Given the description of an element on the screen output the (x, y) to click on. 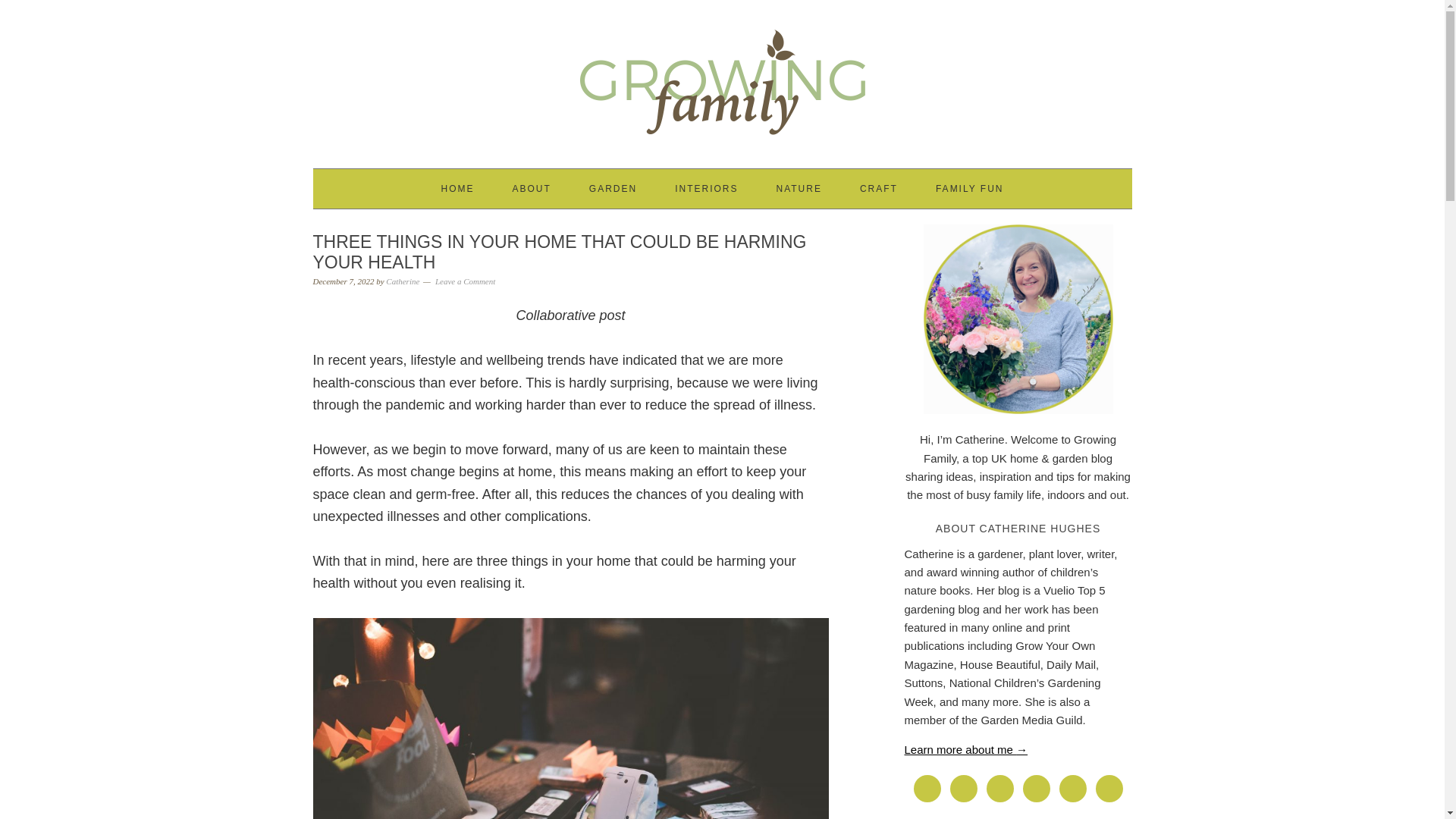
HOME (457, 188)
NATURE (798, 188)
GROWING FAMILY (722, 77)
FAMILY FUN (970, 188)
Catherine (402, 280)
CRAFT (879, 188)
GARDEN (613, 188)
INTERIORS (706, 188)
ABOUT (531, 188)
Leave a Comment (465, 280)
